Given the description of an element on the screen output the (x, y) to click on. 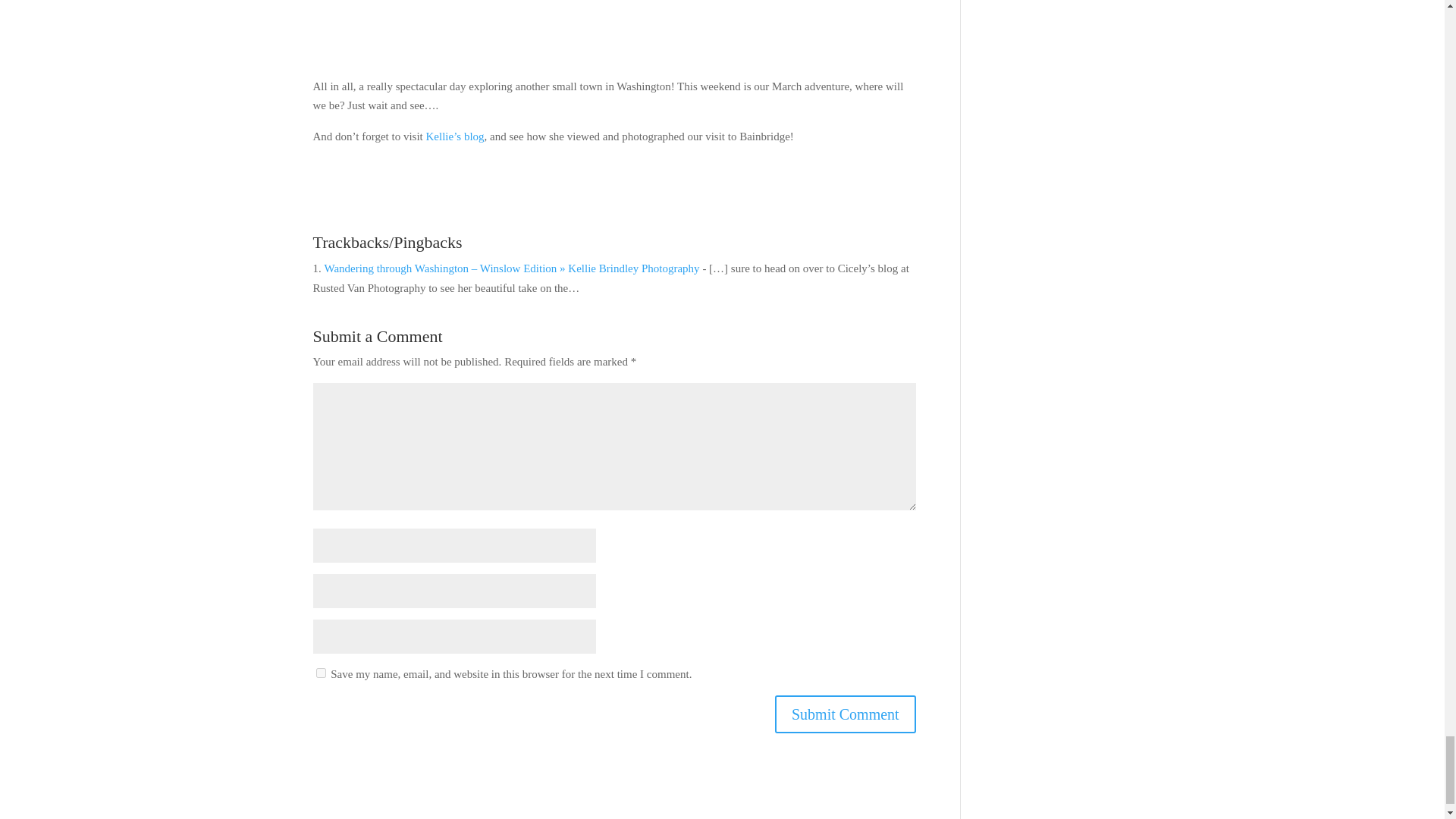
Submit Comment (844, 714)
yes (319, 673)
